Given the description of an element on the screen output the (x, y) to click on. 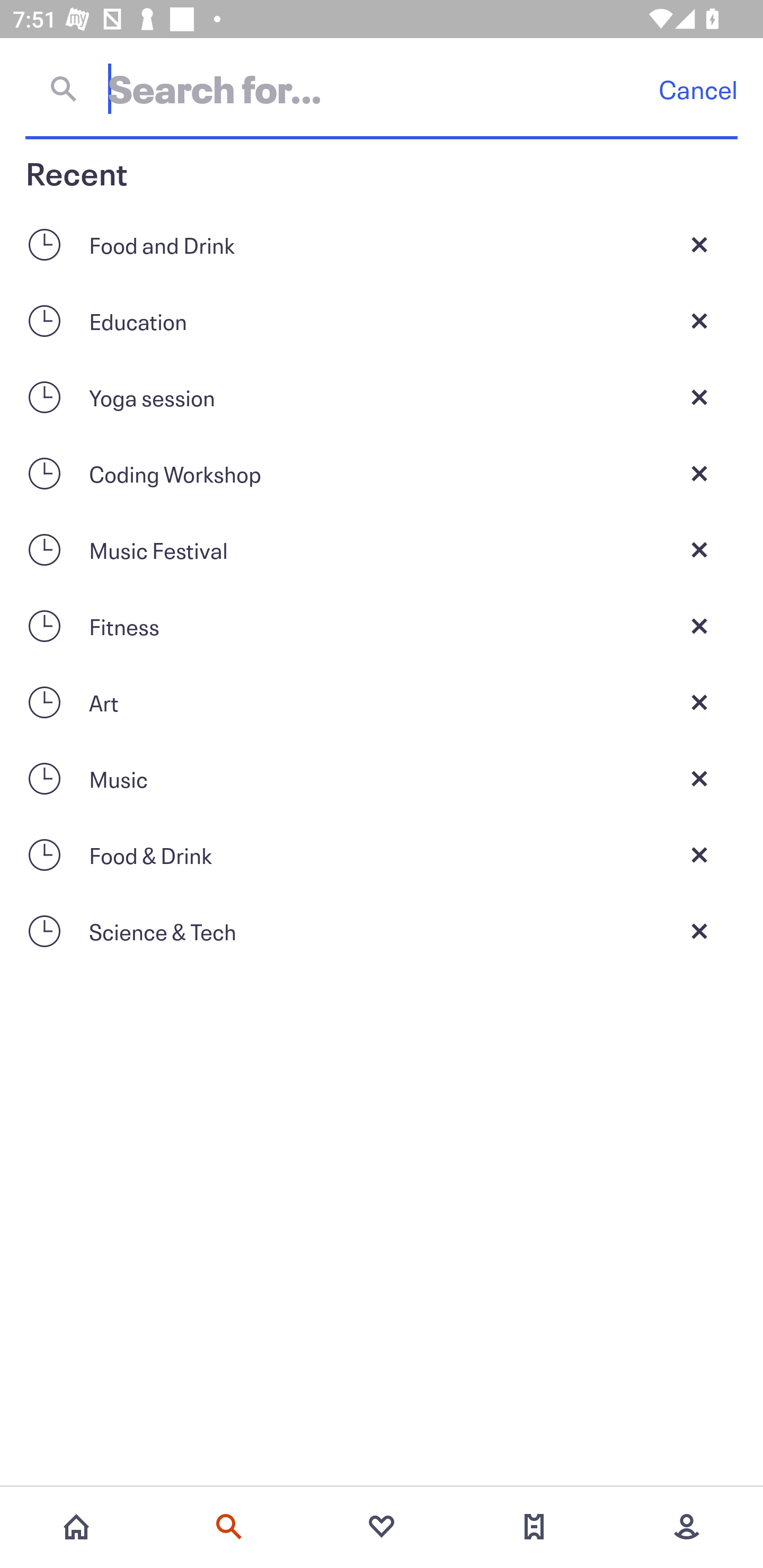
Cancel Search for… (381, 88)
Cancel (697, 89)
Food and Drink Close current screen (381, 244)
Close current screen (699, 244)
Education Close current screen (381, 320)
Close current screen (699, 320)
Yoga session Close current screen (381, 397)
Close current screen (699, 397)
Coding Workshop Close current screen (381, 473)
Close current screen (699, 473)
Music Festival Close current screen (381, 549)
Close current screen (699, 549)
Fitness Close current screen (381, 626)
Close current screen (699, 626)
Art Close current screen (381, 702)
Close current screen (699, 702)
Music Close current screen (381, 778)
Close current screen (699, 778)
Food & Drink Close current screen (381, 854)
Close current screen (699, 854)
Science & Tech Close current screen (381, 931)
Close current screen (699, 931)
Home (76, 1526)
Search events (228, 1526)
Favorites (381, 1526)
Tickets (533, 1526)
More (686, 1526)
